Given the description of an element on the screen output the (x, y) to click on. 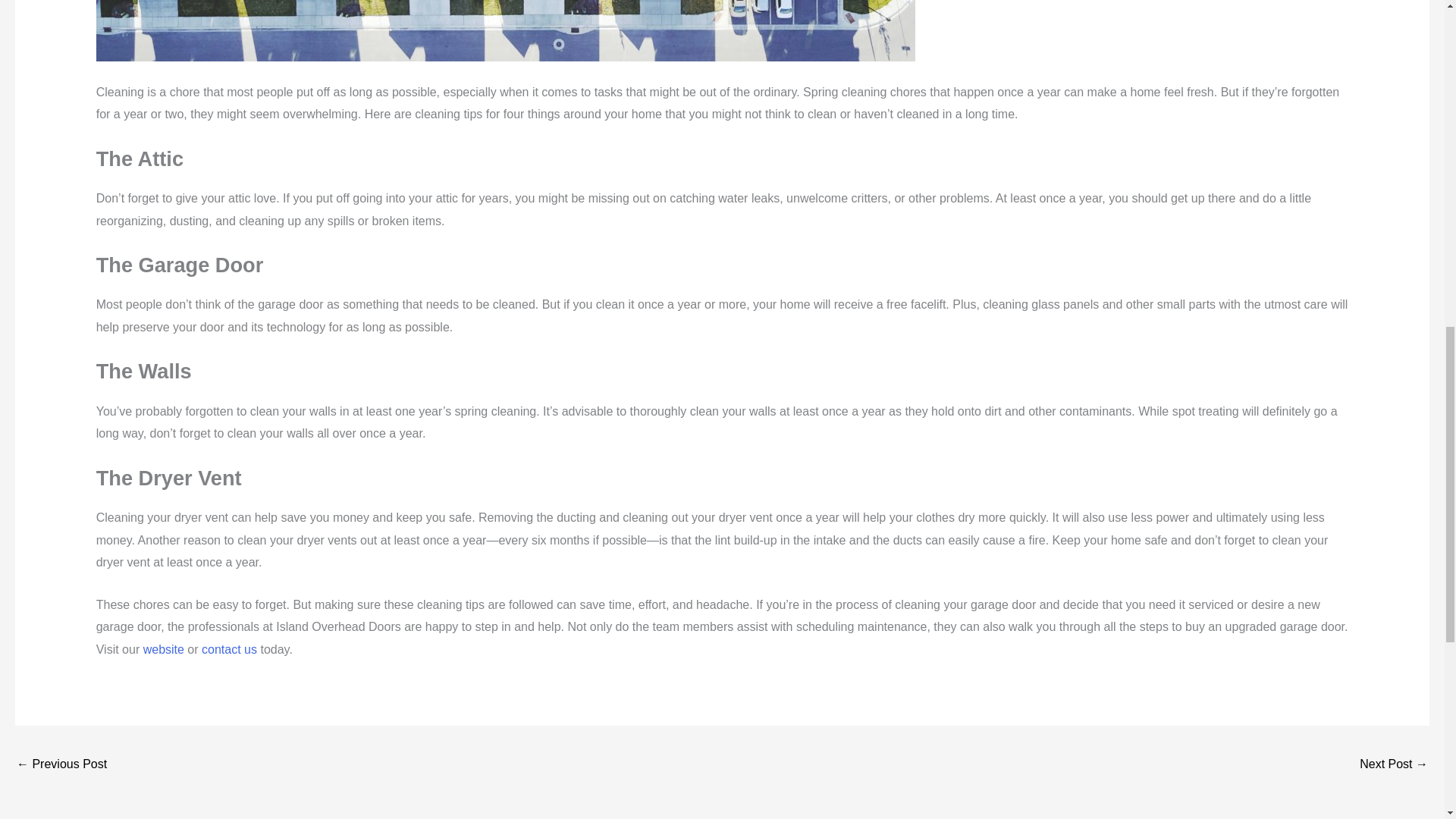
3 Ways to Make Your Home Stand Out on the Market (61, 765)
5 Ways to Take Care of Your Garage Door (1393, 765)
website (163, 649)
contact us (229, 649)
